Given the description of an element on the screen output the (x, y) to click on. 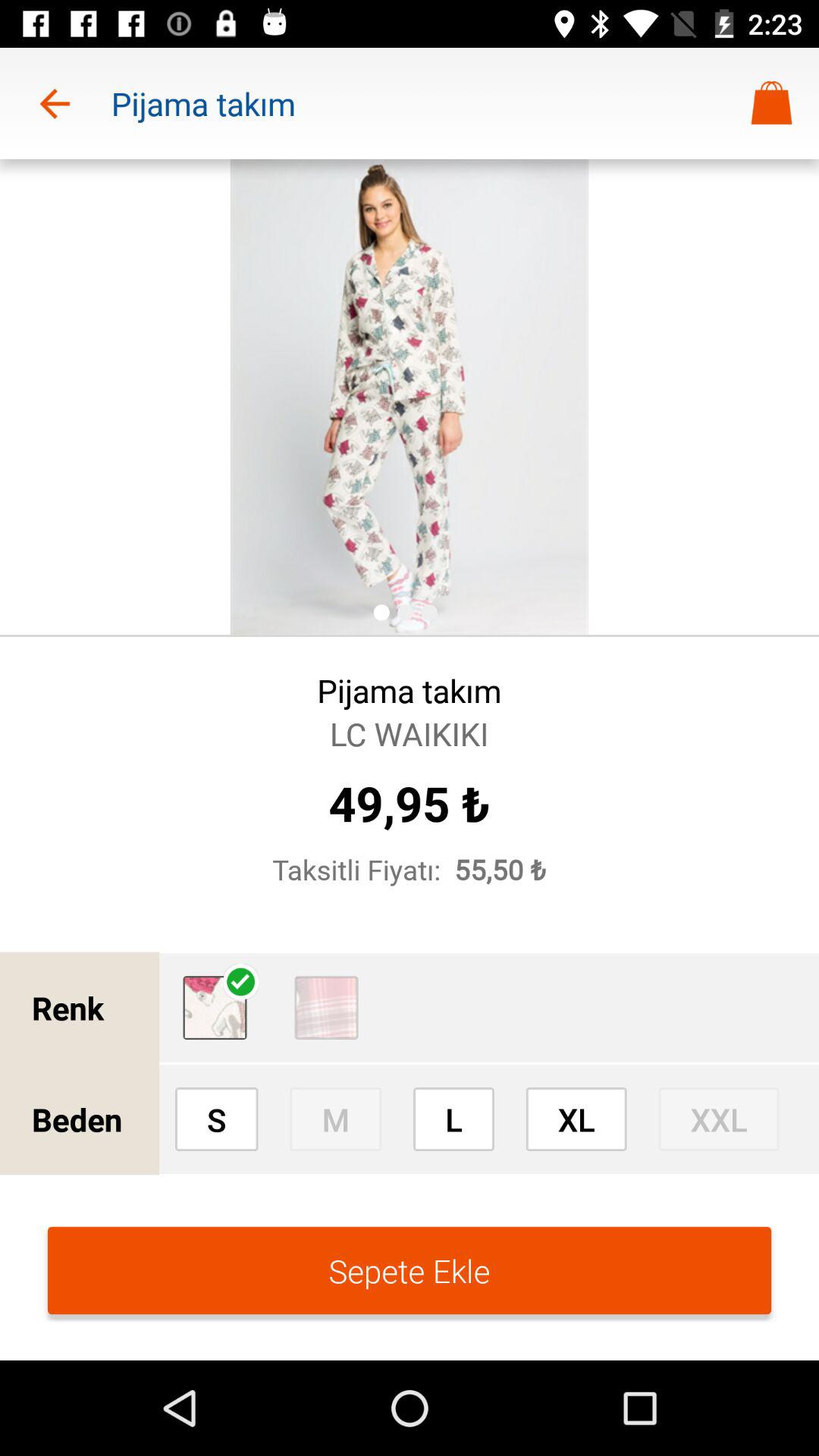
click icon to the right of xl (718, 1119)
